Given the description of an element on the screen output the (x, y) to click on. 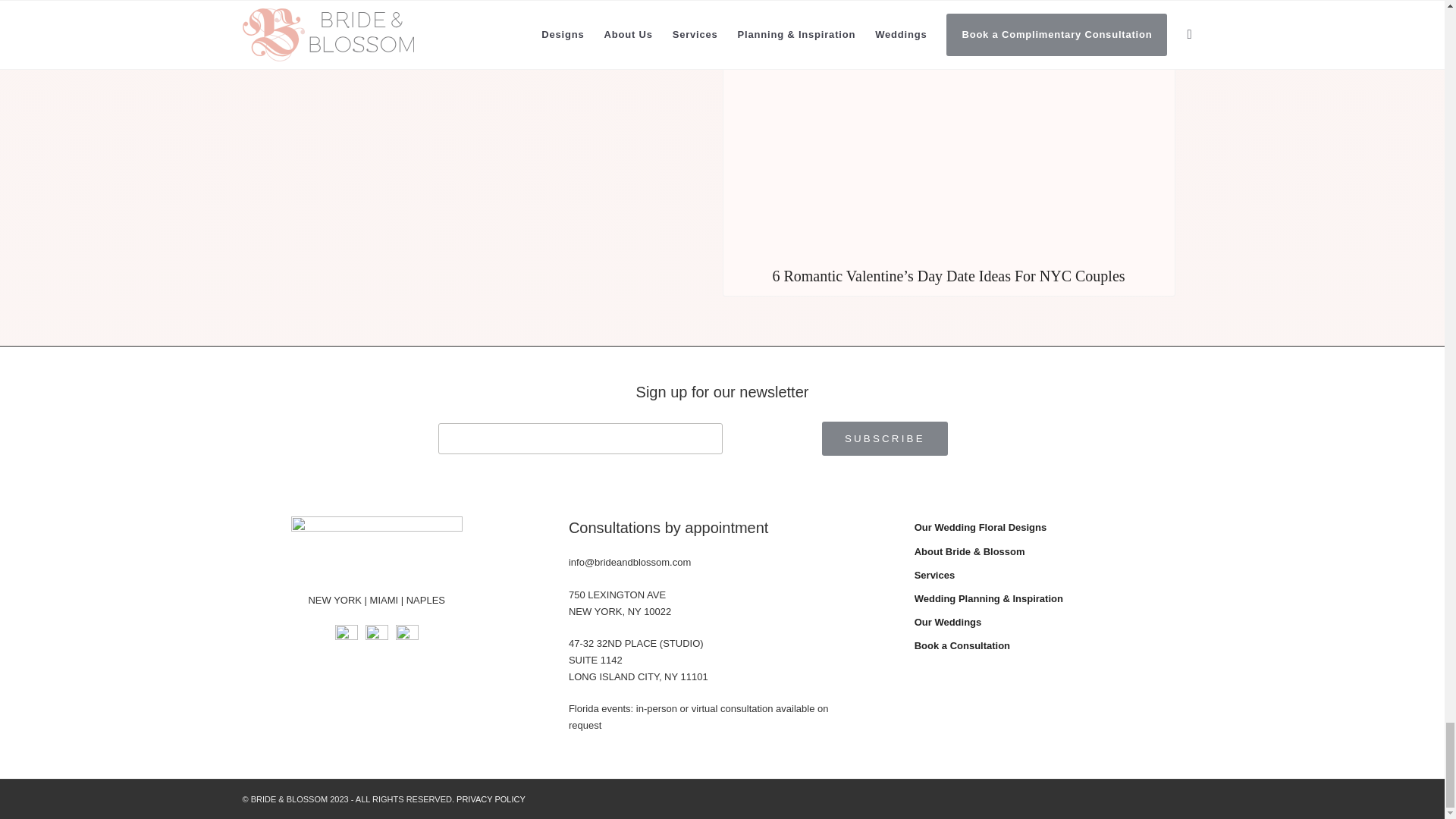
Our Wedding Floral Designs (1058, 527)
Services (1058, 576)
Subscribe (884, 438)
Subscribe (884, 438)
